Given the description of an element on the screen output the (x, y) to click on. 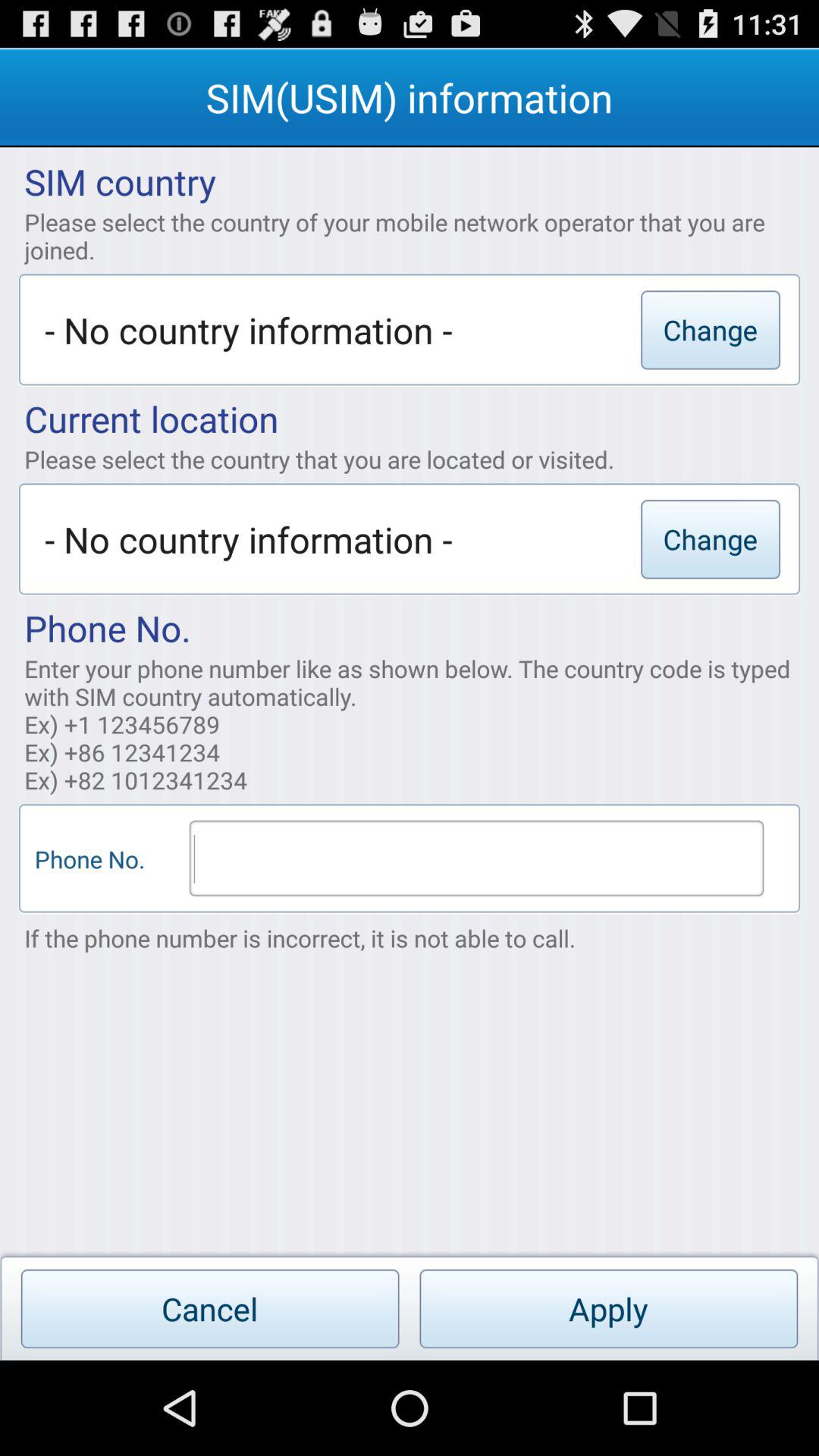
click the item to the right of cancel (608, 1309)
